Given the description of an element on the screen output the (x, y) to click on. 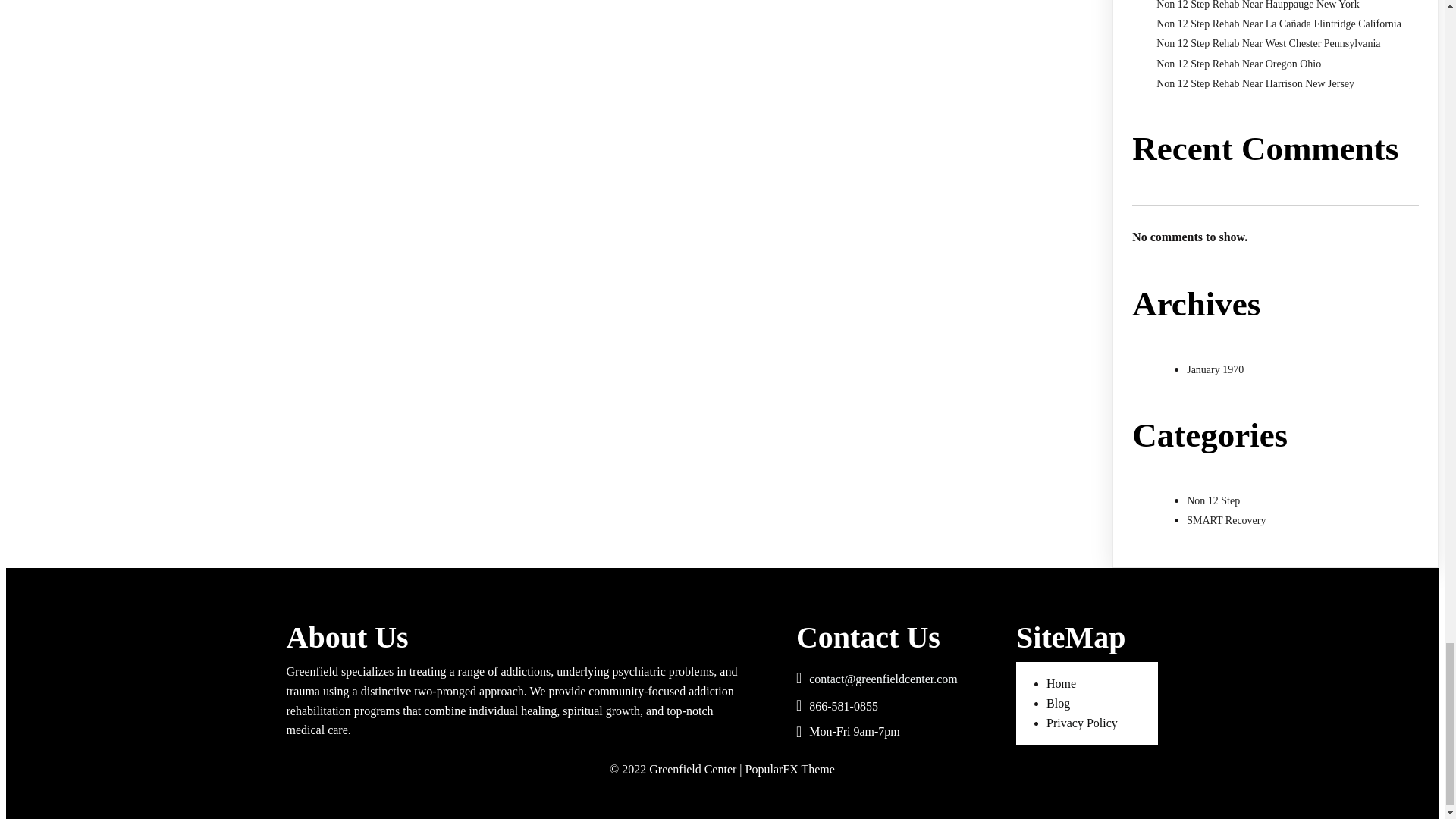
Non 12 Step Rehab Near Hauppauge New York (1257, 4)
Non 12 Step Rehab Near Harrison New Jersey (1255, 83)
Blog (1058, 703)
Privacy Policy (1082, 722)
Non 12 Step Rehab Near Oregon Ohio (1238, 63)
PopularFX Theme (789, 768)
Non 12 Step (1213, 500)
SMART Recovery (1225, 520)
January 1970 (1214, 369)
Non 12 Step Rehab Near West Chester Pennsylvania (1268, 43)
